Given the description of an element on the screen output the (x, y) to click on. 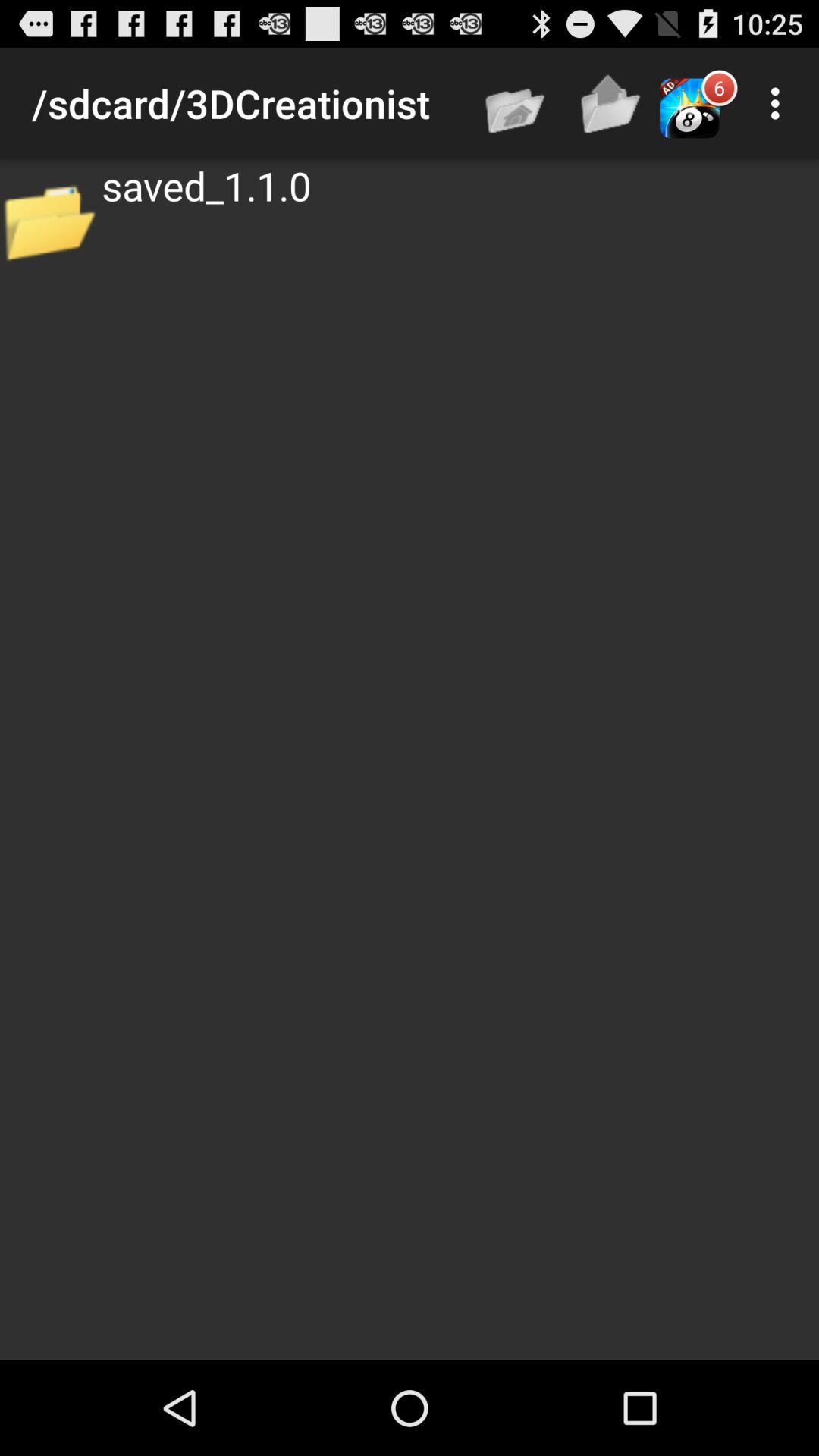
press icon above the saved_1.1.0 app (779, 103)
